Given the description of an element on the screen output the (x, y) to click on. 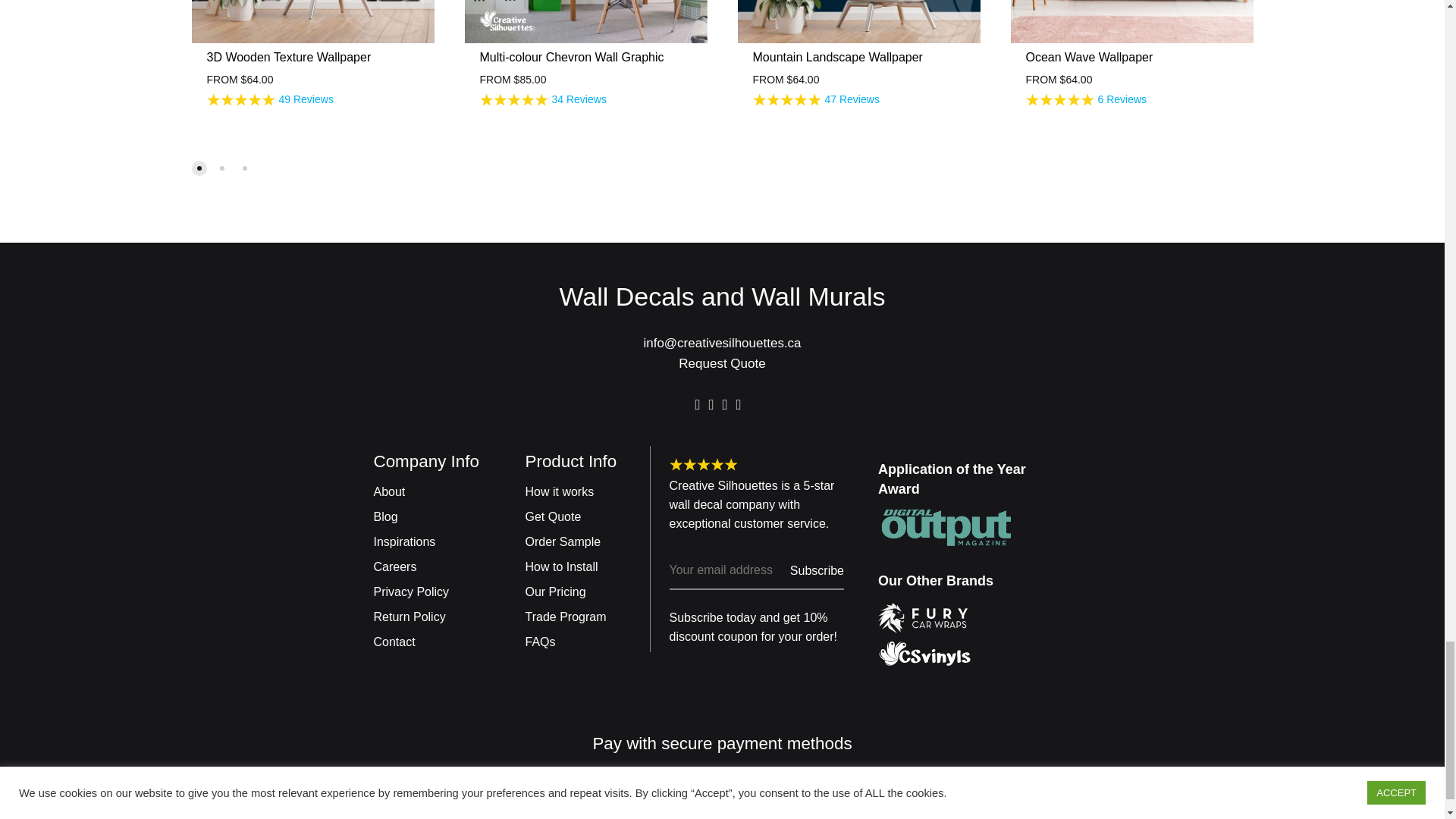
Instagram (724, 404)
Facebook (697, 404)
Youtube (738, 404)
Subscribe (817, 570)
Pinterest (711, 404)
